Given the description of an element on the screen output the (x, y) to click on. 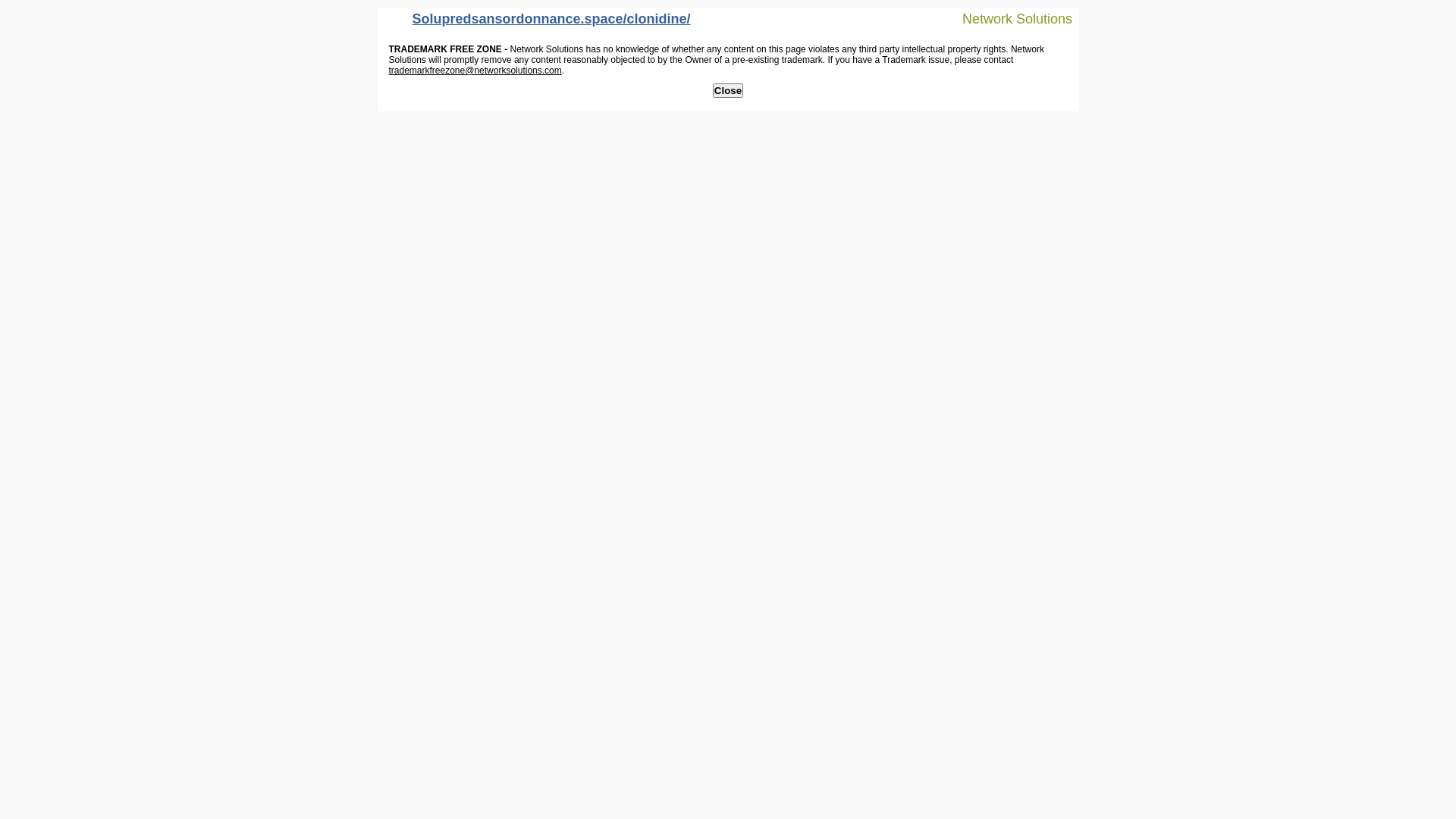
trademarkfreezone@networksolutions.com Element type: text (474, 70)
Close Element type: text (727, 90)
Network Solutions Element type: text (1007, 17)
Solupredsansordonnance.space/clonidine/ Element type: text (537, 21)
